Given the description of an element on the screen output the (x, y) to click on. 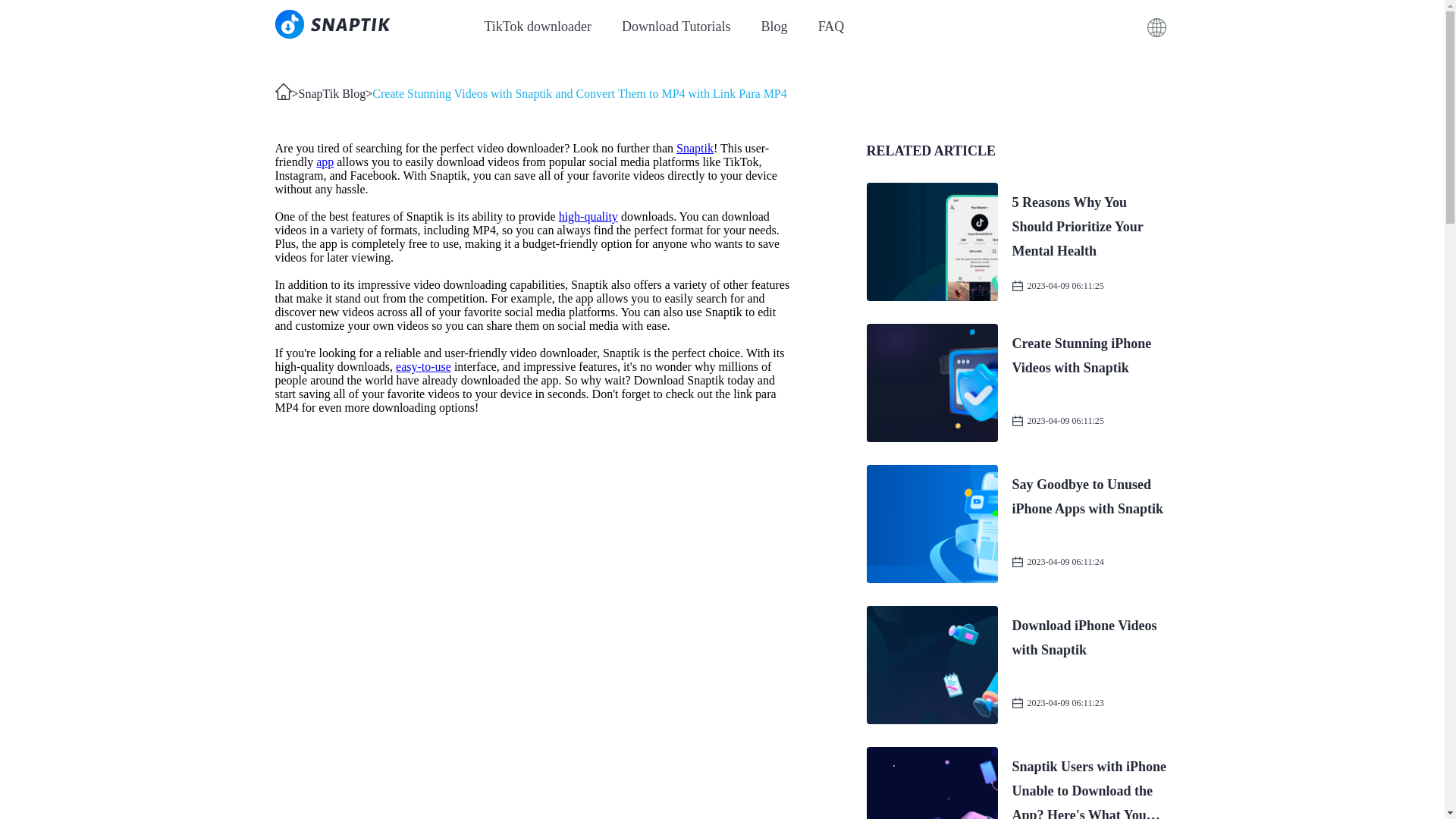
high-quality (588, 215)
Snaptik (695, 147)
Download Tutorials (675, 26)
app (324, 161)
TikTok downloader (537, 26)
SnapTik Blog (332, 93)
FAQ (831, 26)
easy-to-use (423, 366)
Blog (1017, 664)
